Given the description of an element on the screen output the (x, y) to click on. 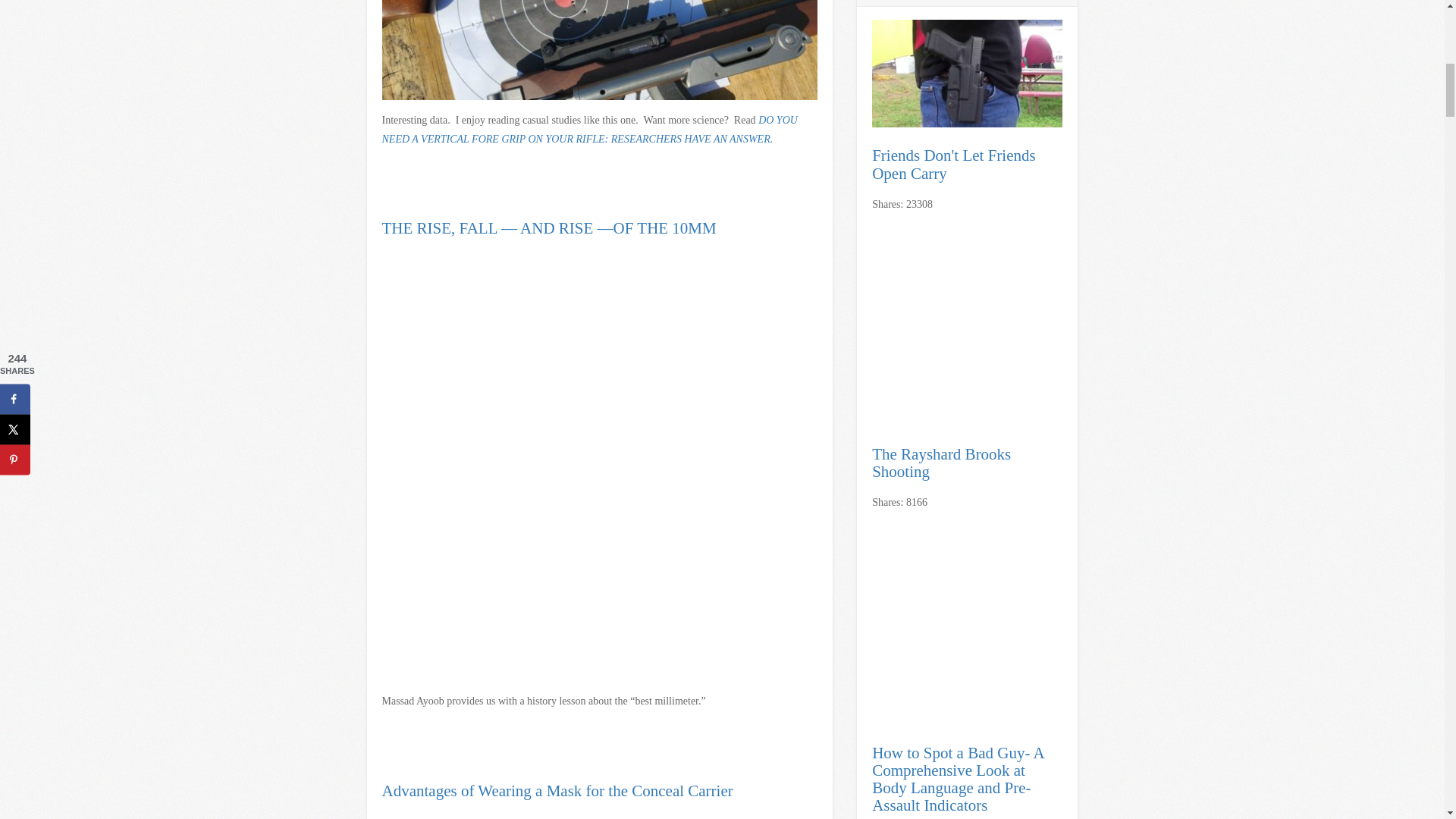
Advantages of Wearing a Mask for the Conceal Carrier (557, 791)
